Given the description of an element on the screen output the (x, y) to click on. 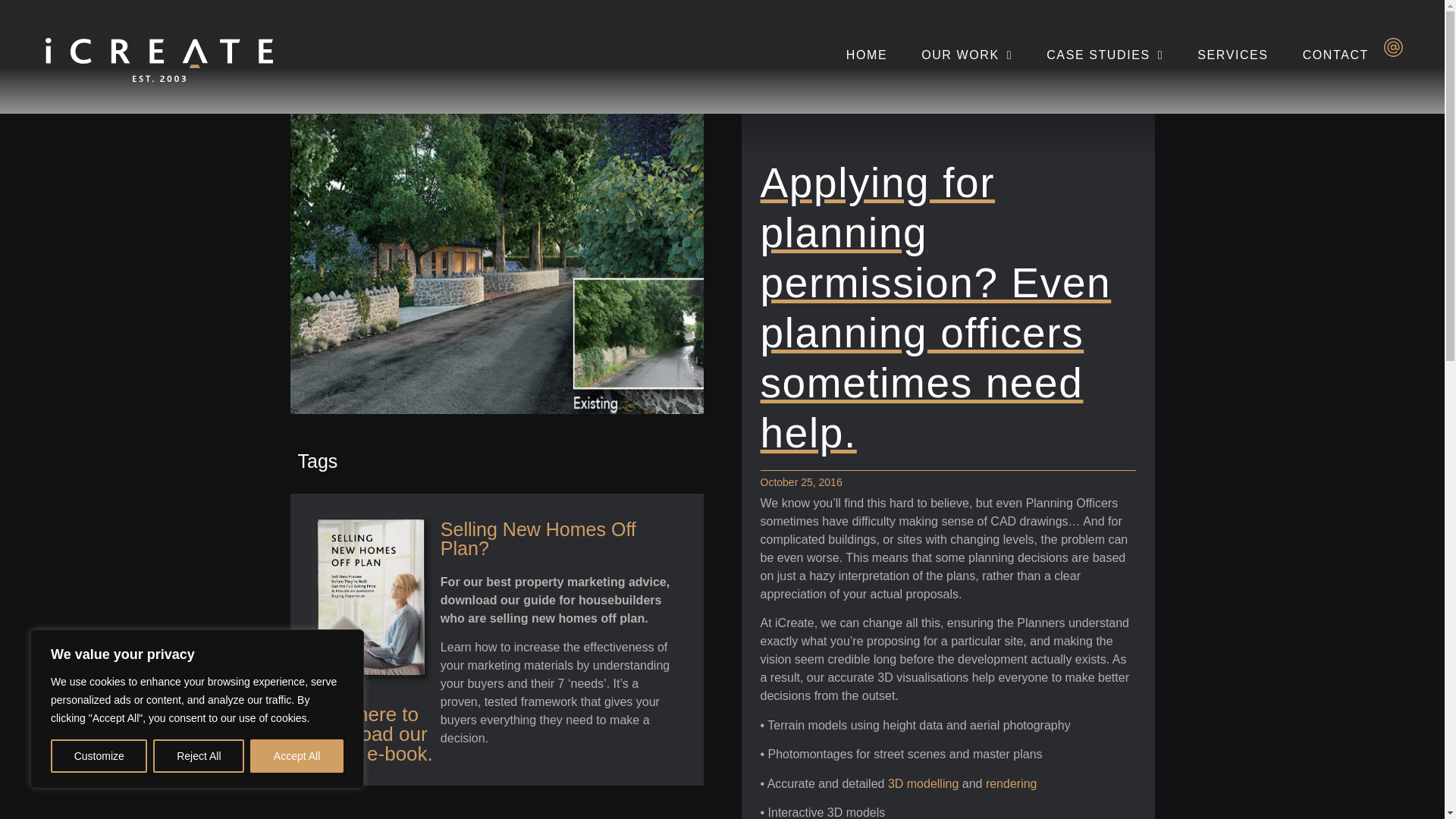
Customize (98, 756)
Reject All (198, 756)
Accept All (296, 756)
